Given the description of an element on the screen output the (x, y) to click on. 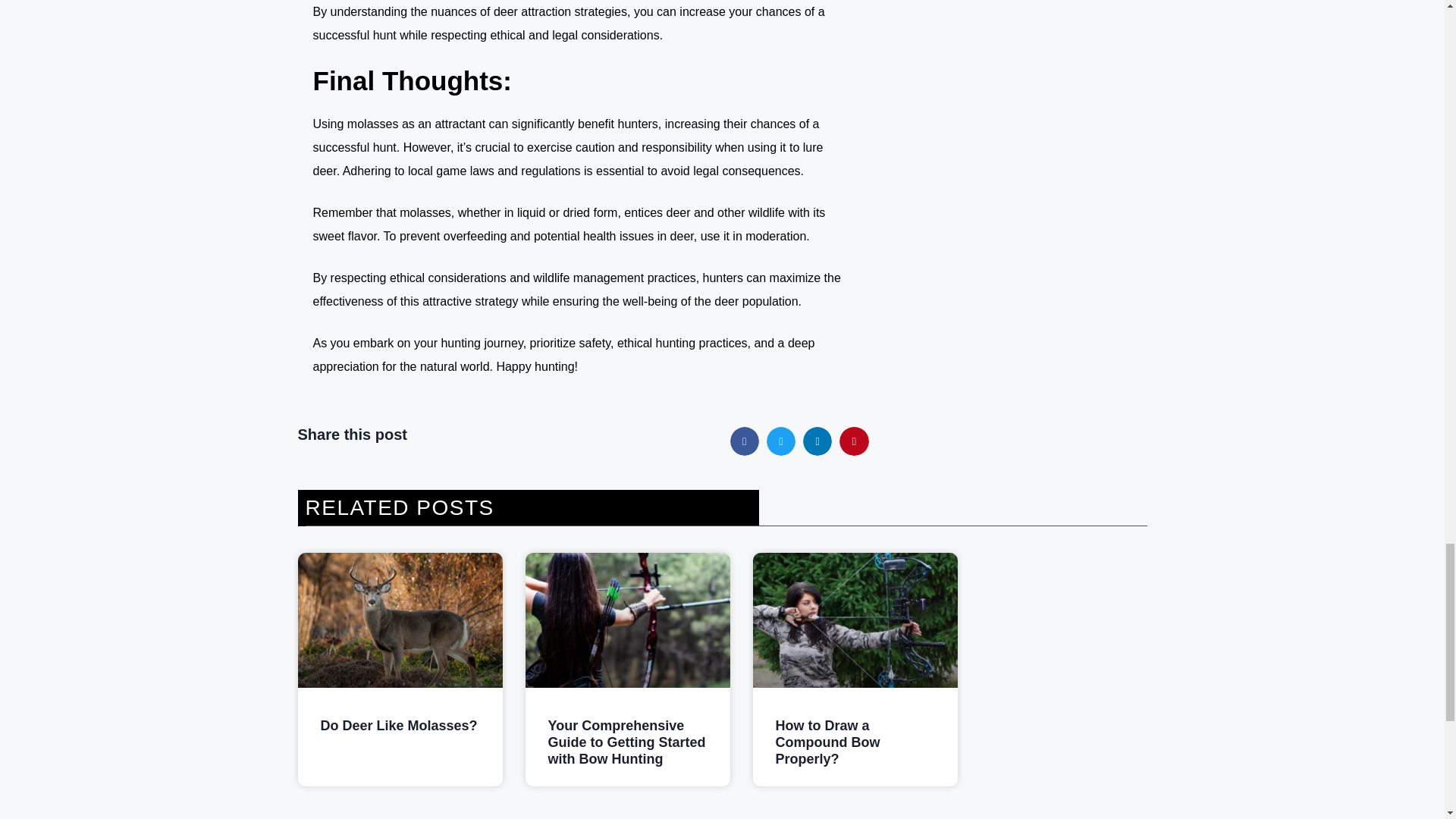
Do Deer Like Molasses? (398, 725)
Your Comprehensive Guide to Getting Started with Bow Hunting (625, 741)
How to Draw a Compound Bow Properly? (826, 741)
